Given the description of an element on the screen output the (x, y) to click on. 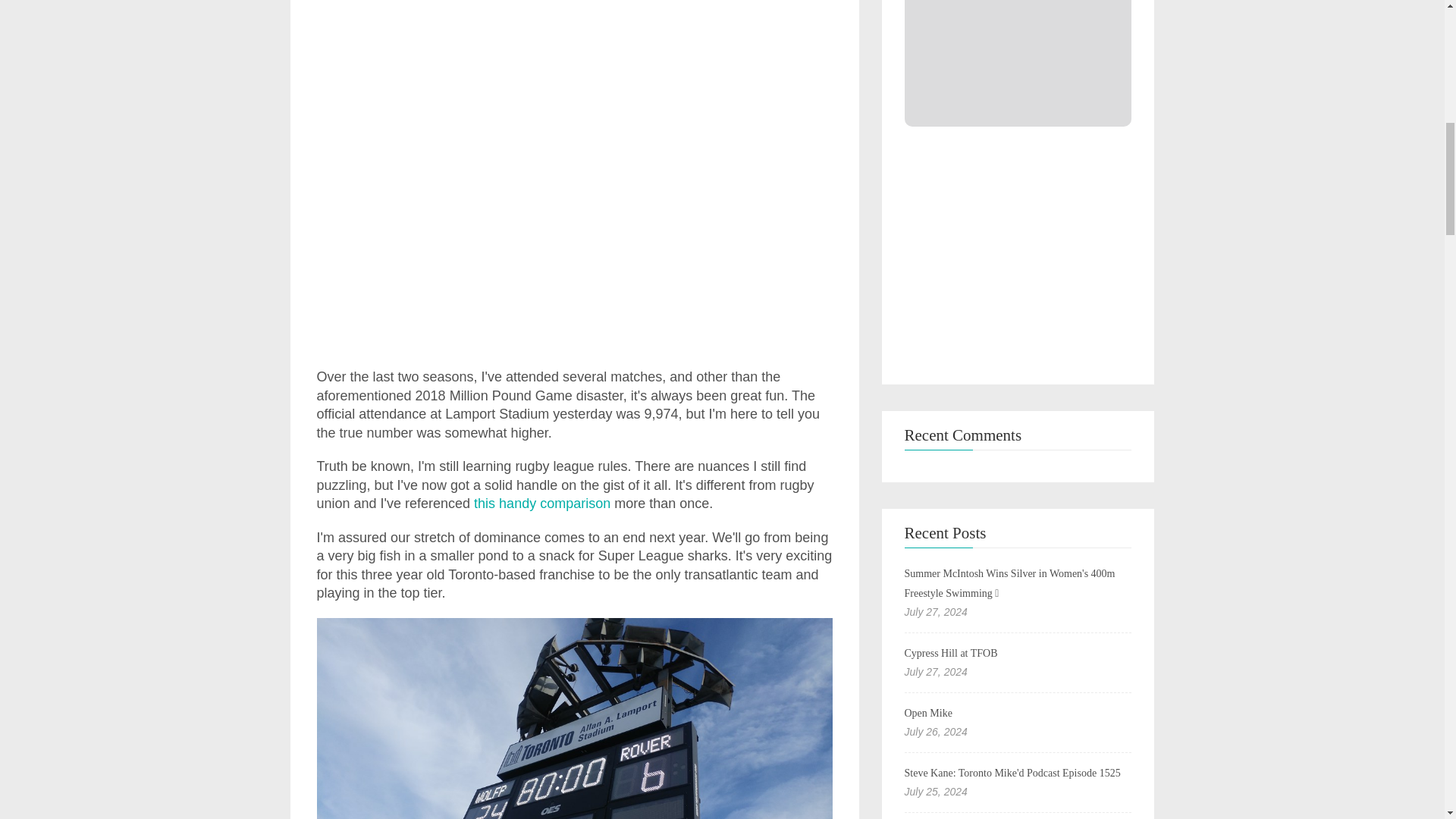
Cypress Hill at TFOB (950, 653)
Steve Kane: Toronto Mike'd Podcast Episode 1525 (1011, 772)
Open Mike (928, 713)
this handy comparison (542, 503)
